Given the description of an element on the screen output the (x, y) to click on. 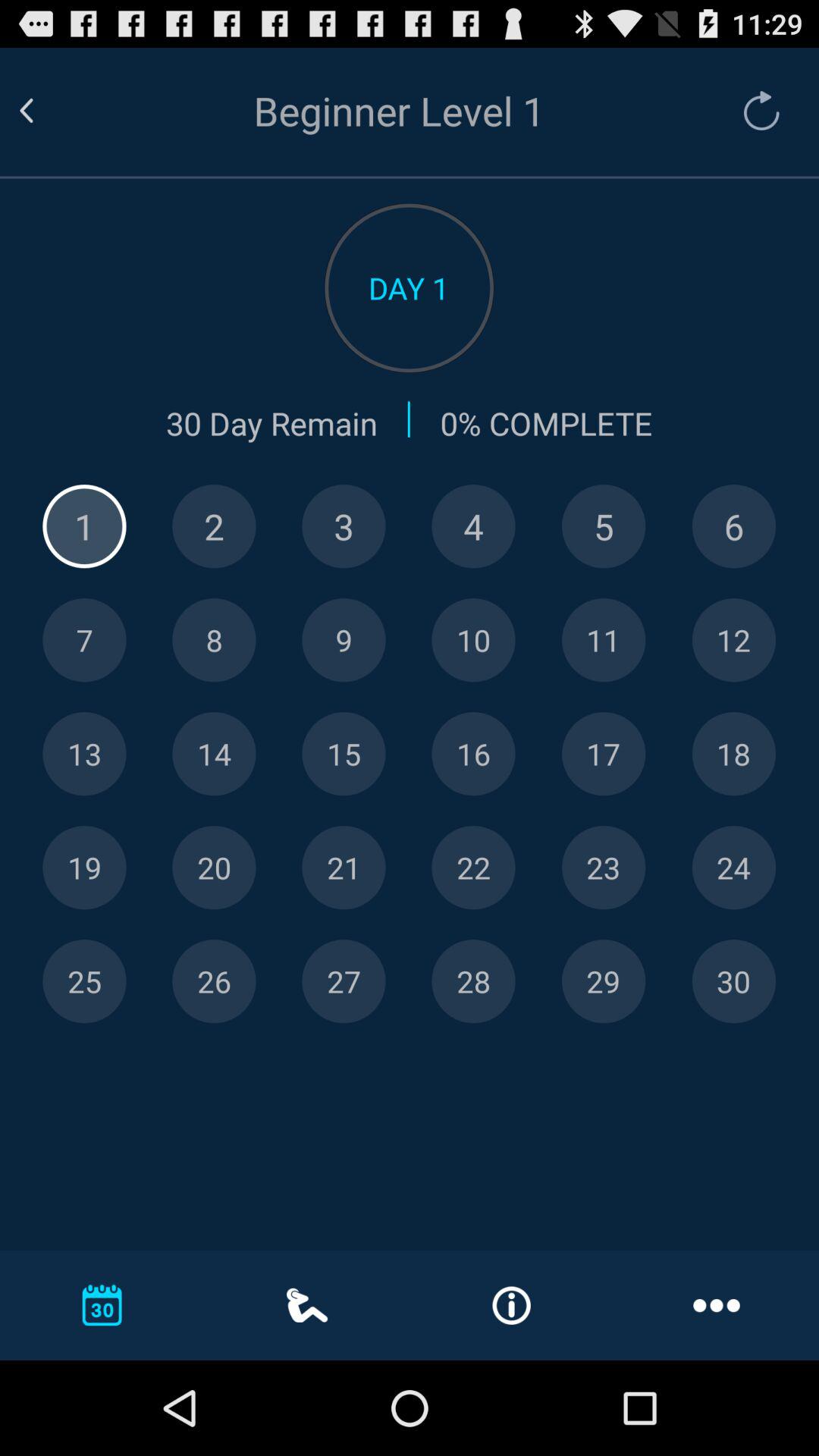
day 11 button (603, 639)
